Given the description of an element on the screen output the (x, y) to click on. 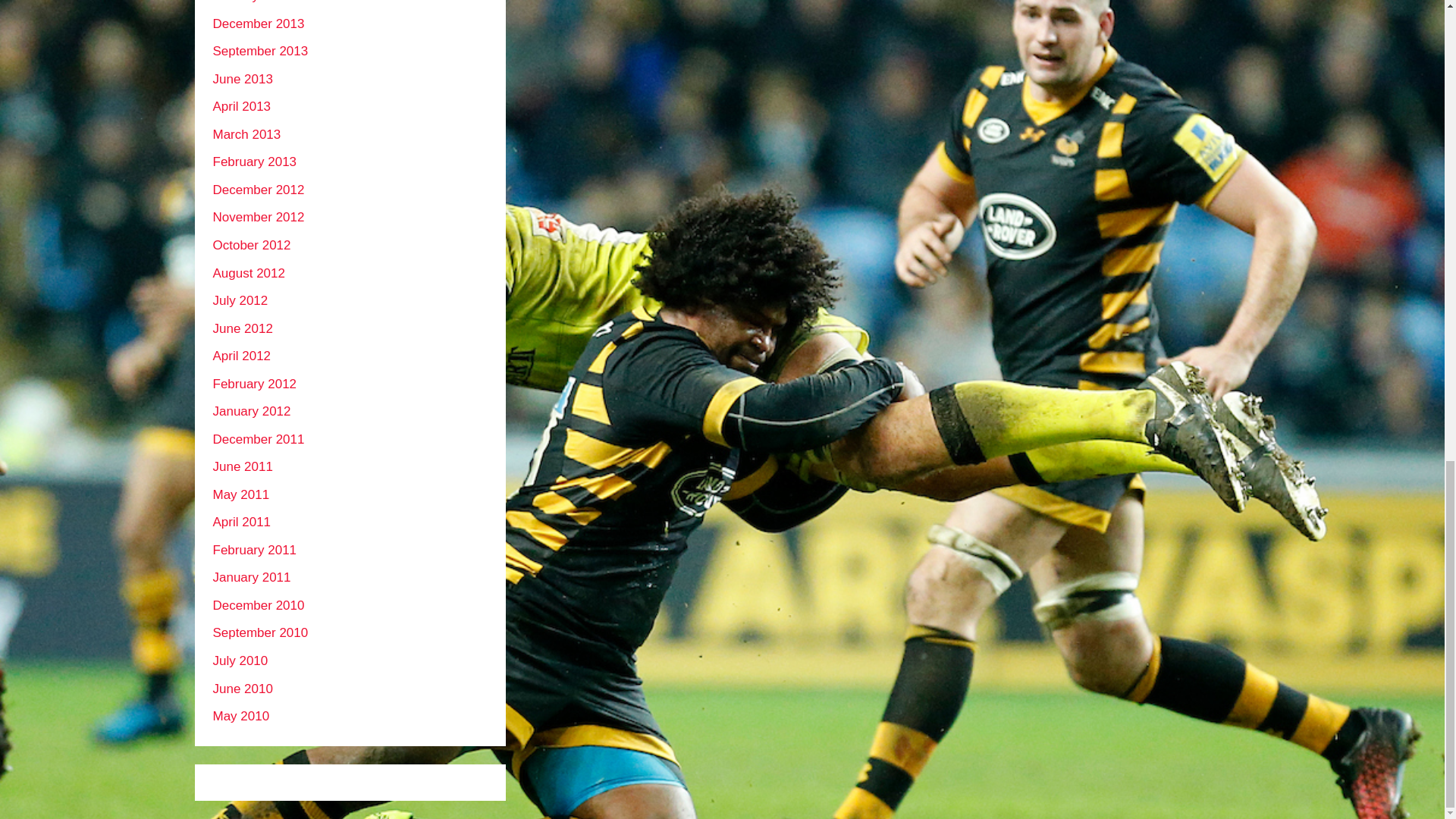
March 2013 (246, 134)
December 2013 (258, 23)
September 2013 (259, 51)
June 2013 (242, 79)
January 2014 (250, 1)
April 2013 (241, 106)
